Given the description of an element on the screen output the (x, y) to click on. 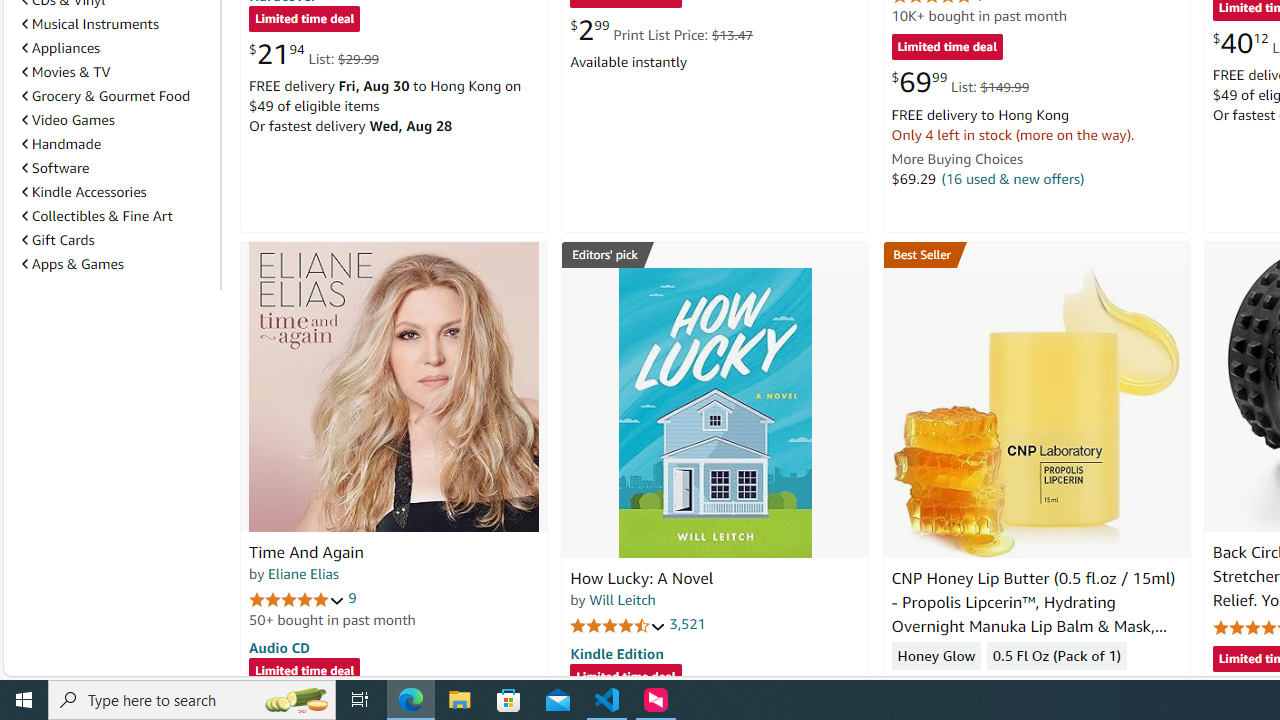
(16 used & new offers) (1012, 178)
Apps & Games (117, 264)
Editors' pick Best Mystery, Thriller & Suspense (715, 254)
Time And Again (306, 552)
Best Seller in Lip Butters (1036, 254)
Video Games (68, 119)
Kindle Edition (616, 653)
4.3 out of 5 stars (939, 685)
Movies & TV (117, 71)
Grocery & Gourmet Food (117, 95)
Eliane Elias (303, 573)
$21.94 List: $29.99 (314, 54)
Collectibles & Fine Art (117, 215)
Kindle Accessories (117, 192)
